Given the description of an element on the screen output the (x, y) to click on. 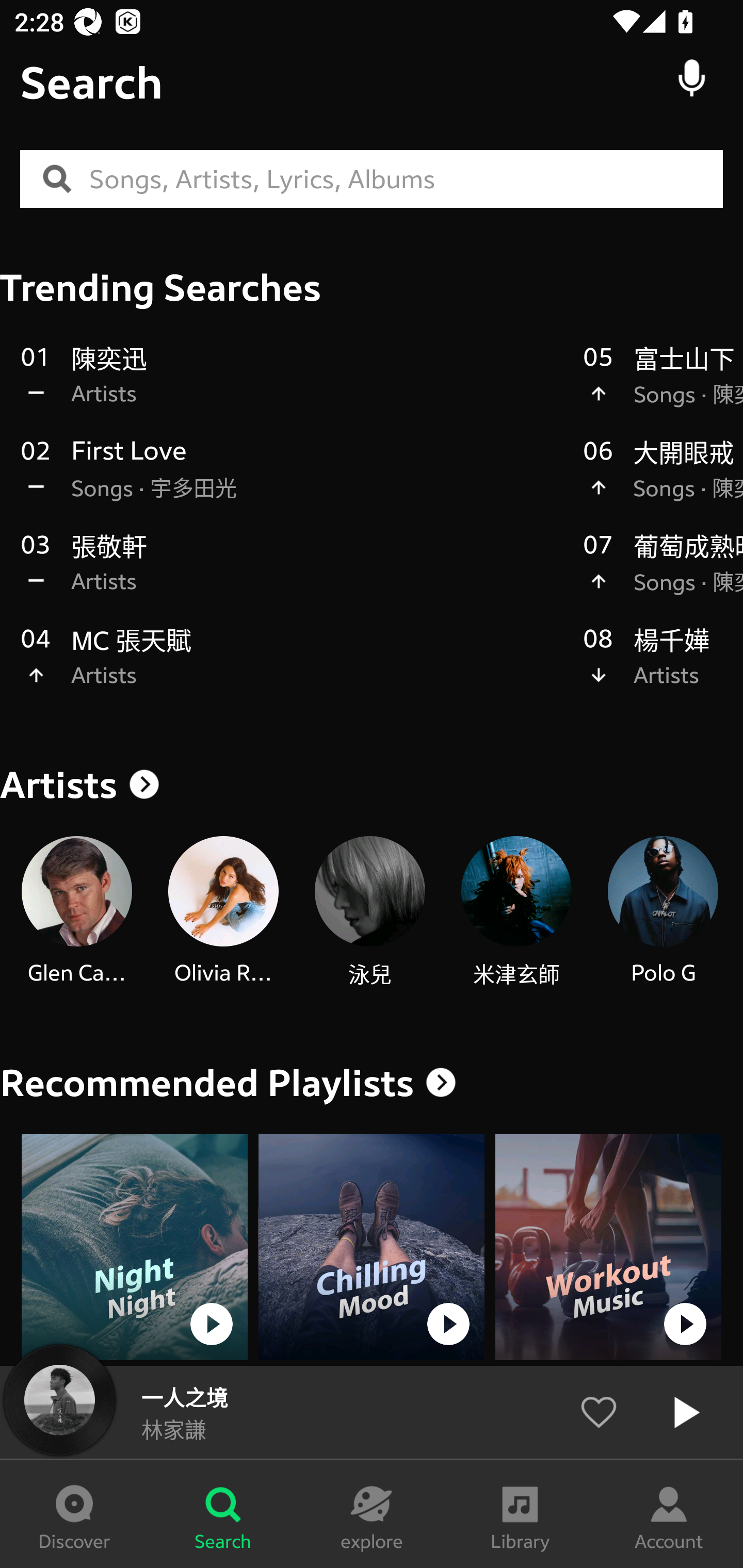
Songs, Artists, Lyrics, Albums (405, 179)
01 陳奕迅 Artists (291, 385)
05 富士山下 Songs · 陳奕迅 (663, 385)
02 First Love Songs · 宇多田光 (291, 479)
06 大開眼戒 Songs · 陳奕迅 (663, 479)
03 張敬軒 Artists (291, 573)
07 葡萄成熟時 Songs · 陳奕迅 (663, 573)
04 MC 張天賦 Artists (291, 667)
08 楊千嬅 Artists (663, 667)
Artists (371, 784)
Glen Campbell (76, 911)
Olivia Rodrigo (222, 911)
泳兒 (369, 912)
米津玄師 (516, 912)
Polo G (662, 911)
Recommended Playlists (206, 1082)
一人之境 林家謙 (371, 1412)
Discover (74, 1513)
explore (371, 1513)
Library (519, 1513)
Account (668, 1513)
